Given the description of an element on the screen output the (x, y) to click on. 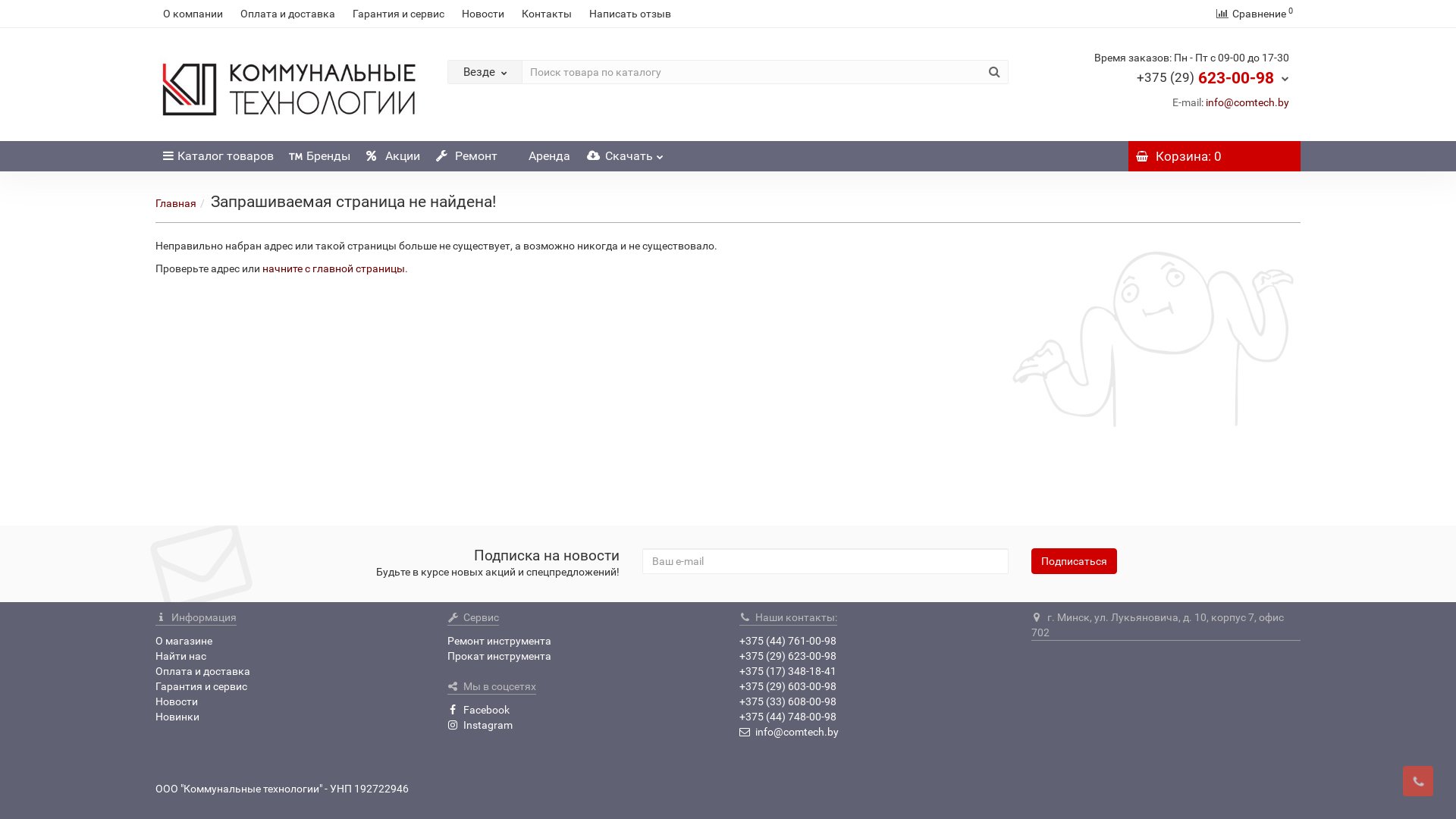
Facebook Element type: text (478, 709)
+375 (29) 623-00-98 Element type: text (1212, 76)
info@comtech.by Element type: text (788, 731)
Instagram Element type: text (479, 724)
info@comtech.by Element type: text (1247, 102)
